Given the description of an element on the screen output the (x, y) to click on. 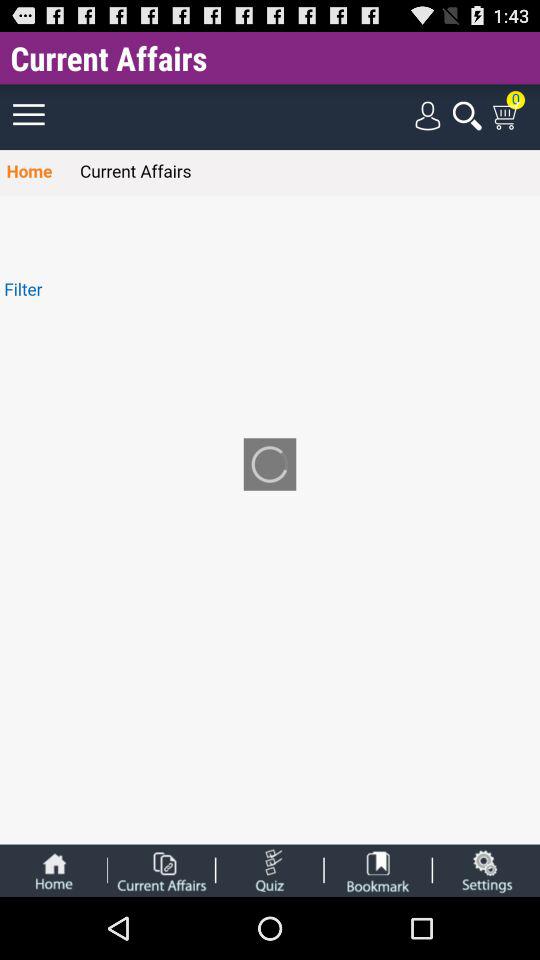
select the settings option (486, 870)
